Given the description of an element on the screen output the (x, y) to click on. 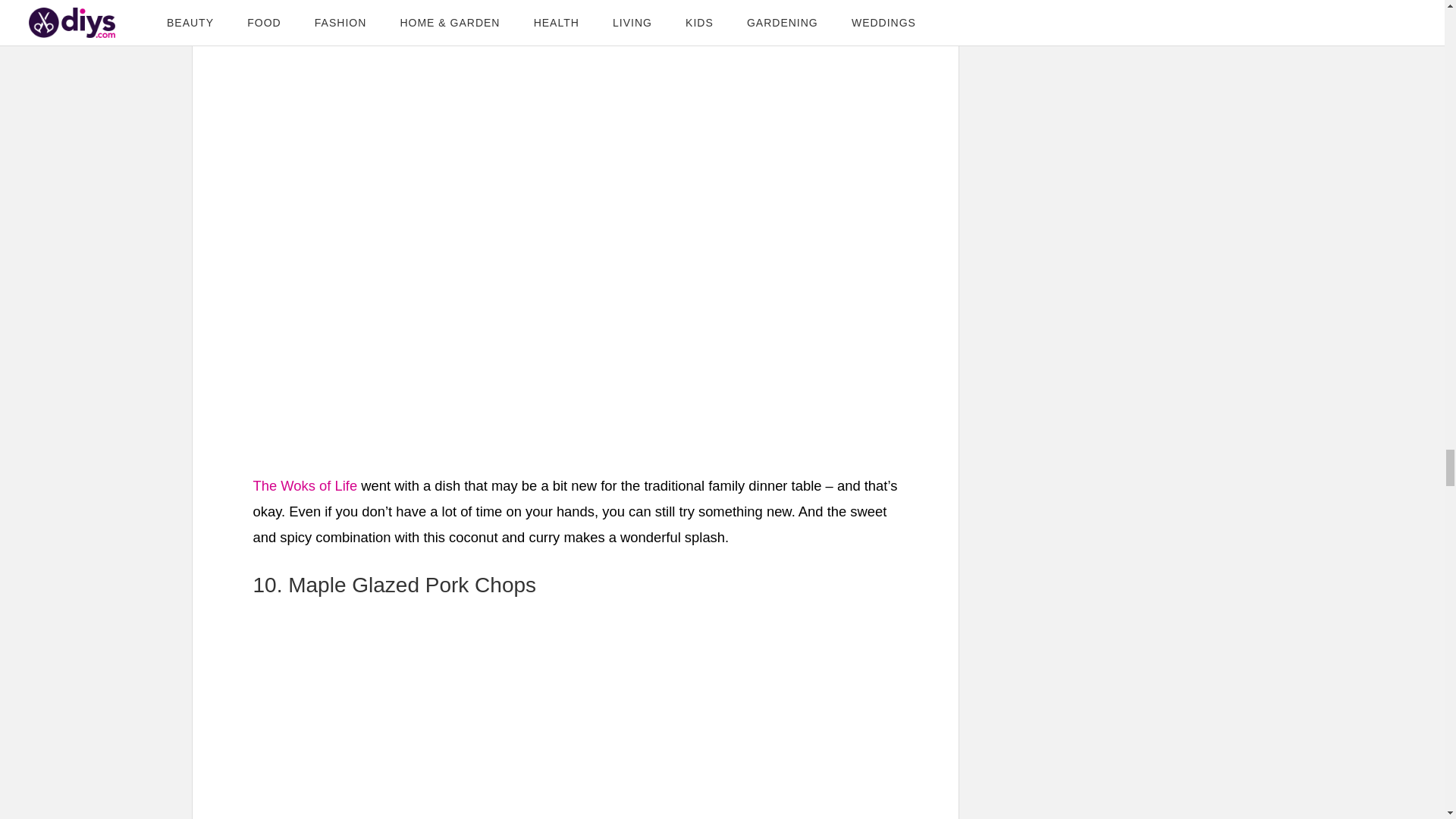
The Woks of Life (305, 485)
